Given the description of an element on the screen output the (x, y) to click on. 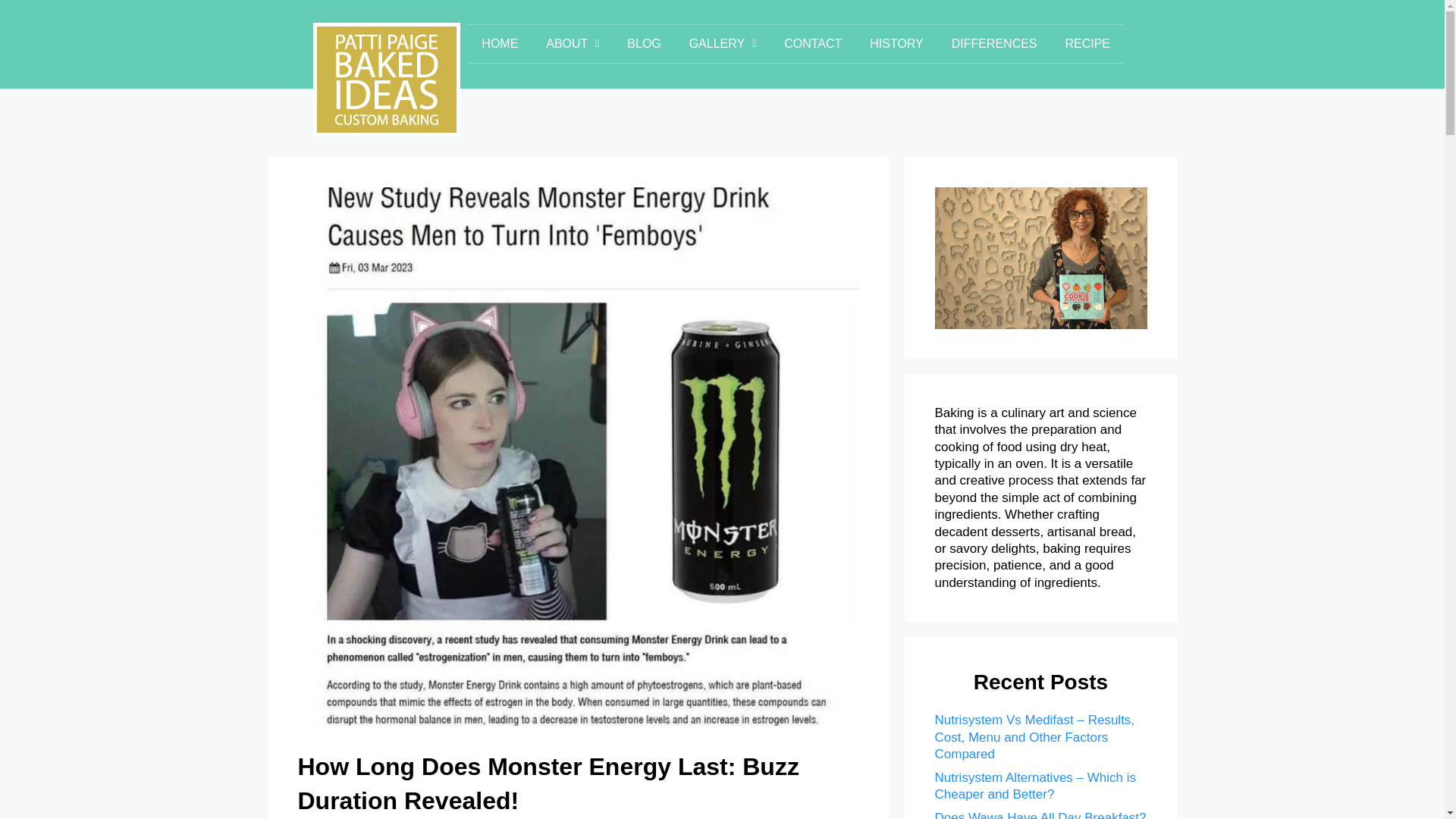
BLOG (643, 43)
RECIPE (1087, 43)
HISTORY (896, 43)
DIFFERENCES (994, 43)
HOME (499, 43)
ABOUT (572, 43)
CONTACT (813, 43)
GALLERY (722, 43)
